Given the description of an element on the screen output the (x, y) to click on. 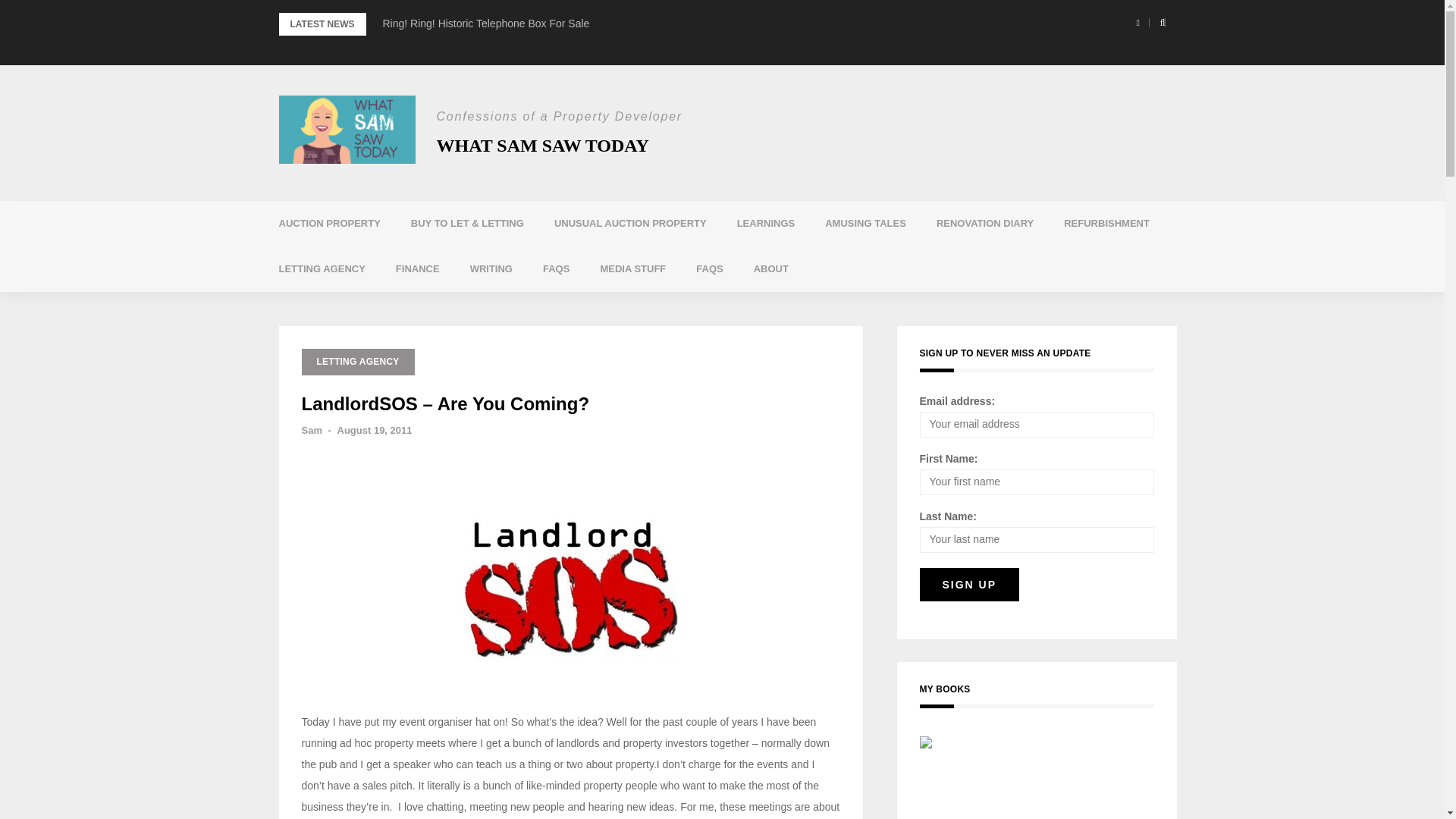
FAQS (556, 268)
FAQS (709, 268)
Renovation Diary (984, 223)
REFURBISHMENT (1106, 223)
WHAT SAM SAW TODAY (542, 145)
Amusing Tales (865, 223)
WRITING (490, 268)
RENOVATION DIARY (984, 223)
Learnings (766, 223)
FINANCE (417, 268)
Ring! Ring! Historic Telephone Box For Sale (485, 23)
ABOUT (770, 268)
Auction Property (329, 223)
UNUSUAL AUCTION PROPERTY (630, 223)
Sign up (968, 584)
